Given the description of an element on the screen output the (x, y) to click on. 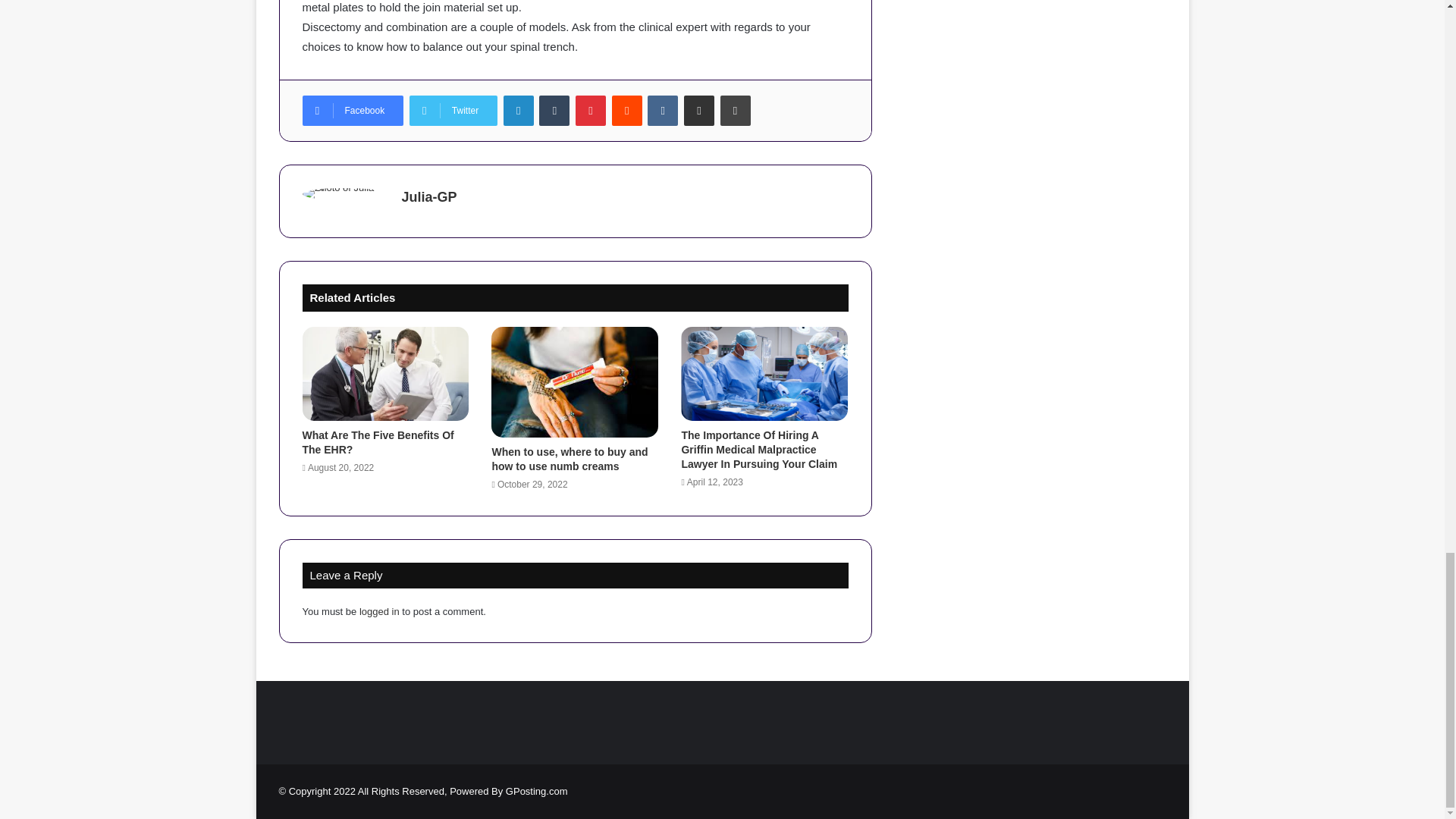
Pinterest (590, 110)
Facebook (352, 110)
Tumblr (553, 110)
Share via Email (699, 110)
Print (735, 110)
VKontakte (662, 110)
Reddit (626, 110)
VKontakte (662, 110)
LinkedIn (518, 110)
Facebook (352, 110)
Reddit (626, 110)
Julia-GP (429, 196)
What Are The Five Benefits Of The EHR? (376, 442)
When to use, where to buy and how to use numb creams (569, 458)
